Given the description of an element on the screen output the (x, y) to click on. 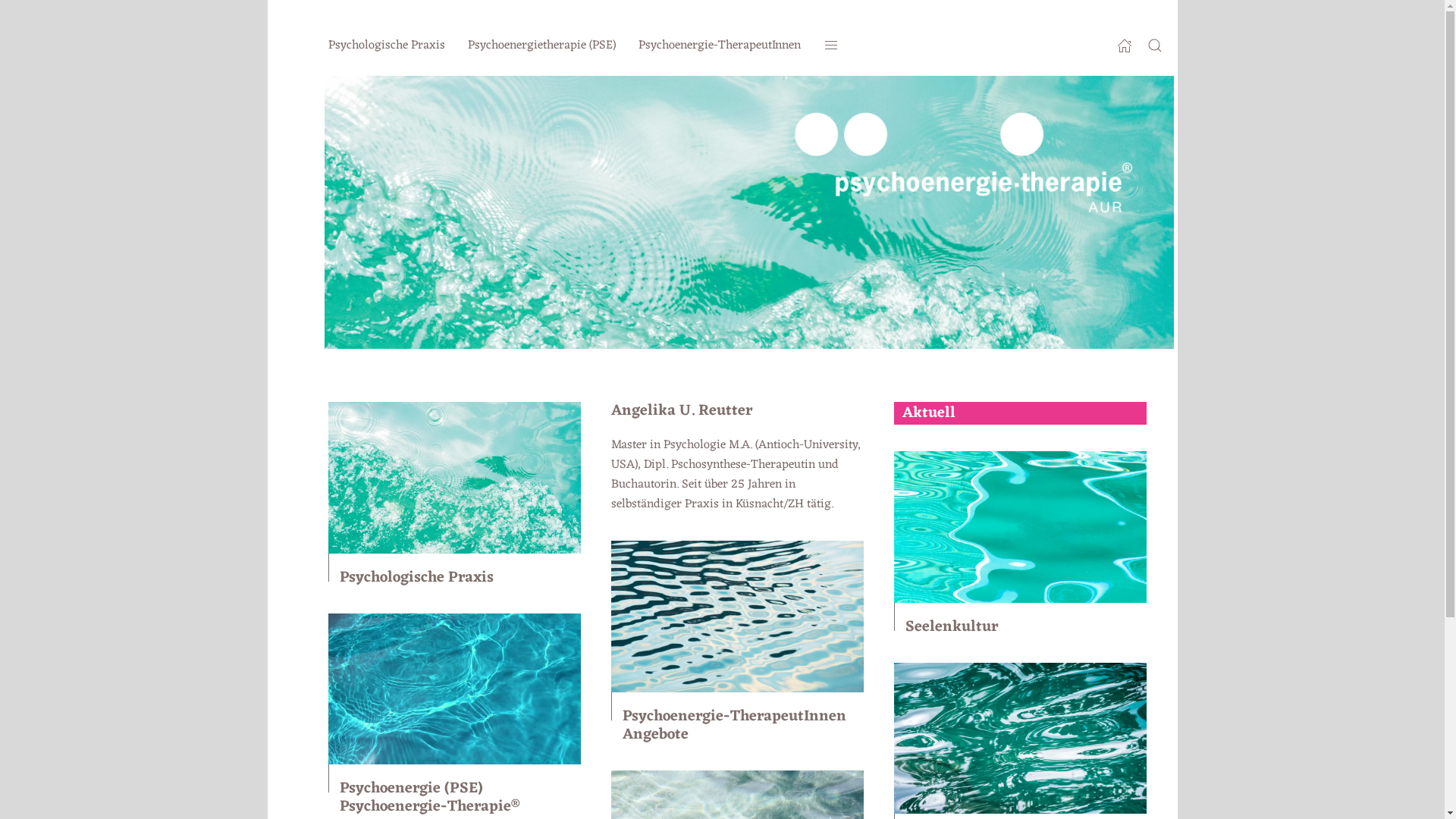
Psychoenergie-TherapeutInnen Angebote Element type: text (734, 725)
Psychologische Praxis Element type: text (385, 45)
Angelika U. Reutter Element type: text (681, 410)
Aktuell Element type: text (1020, 412)
  Element type: text (833, 45)
Psychoenergie-TherapeutInnen Element type: text (719, 45)
Seelenkultur Element type: text (951, 626)
weiterlesen Element type: text (764, 211)
Psychologische Praxis Element type: text (416, 577)
Psychoenergietherapie (PSE) Element type: text (541, 45)
